Given the description of an element on the screen output the (x, y) to click on. 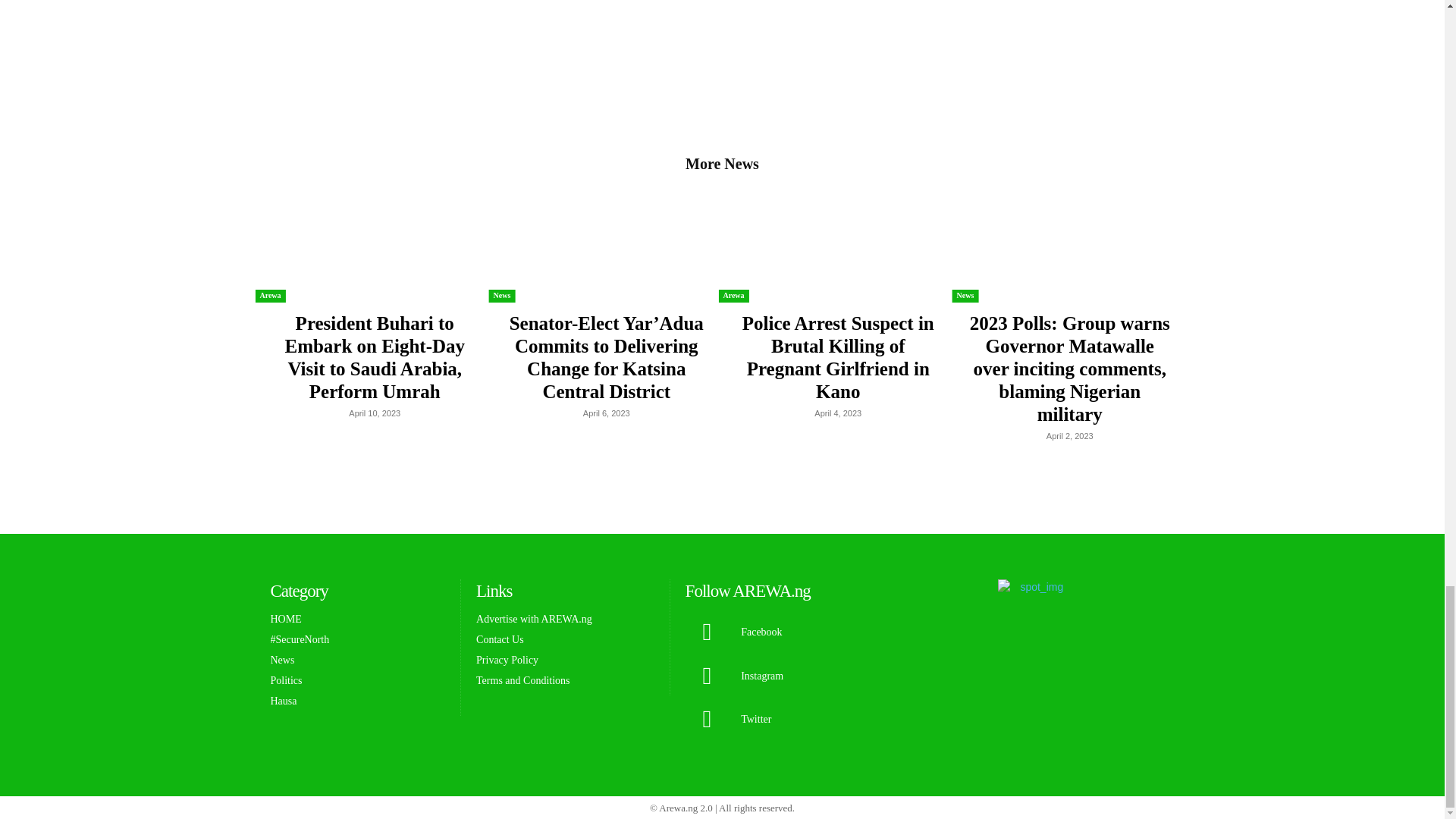
Facebook (707, 632)
Instagram (707, 676)
News (502, 295)
Arewa (269, 295)
